Given the description of an element on the screen output the (x, y) to click on. 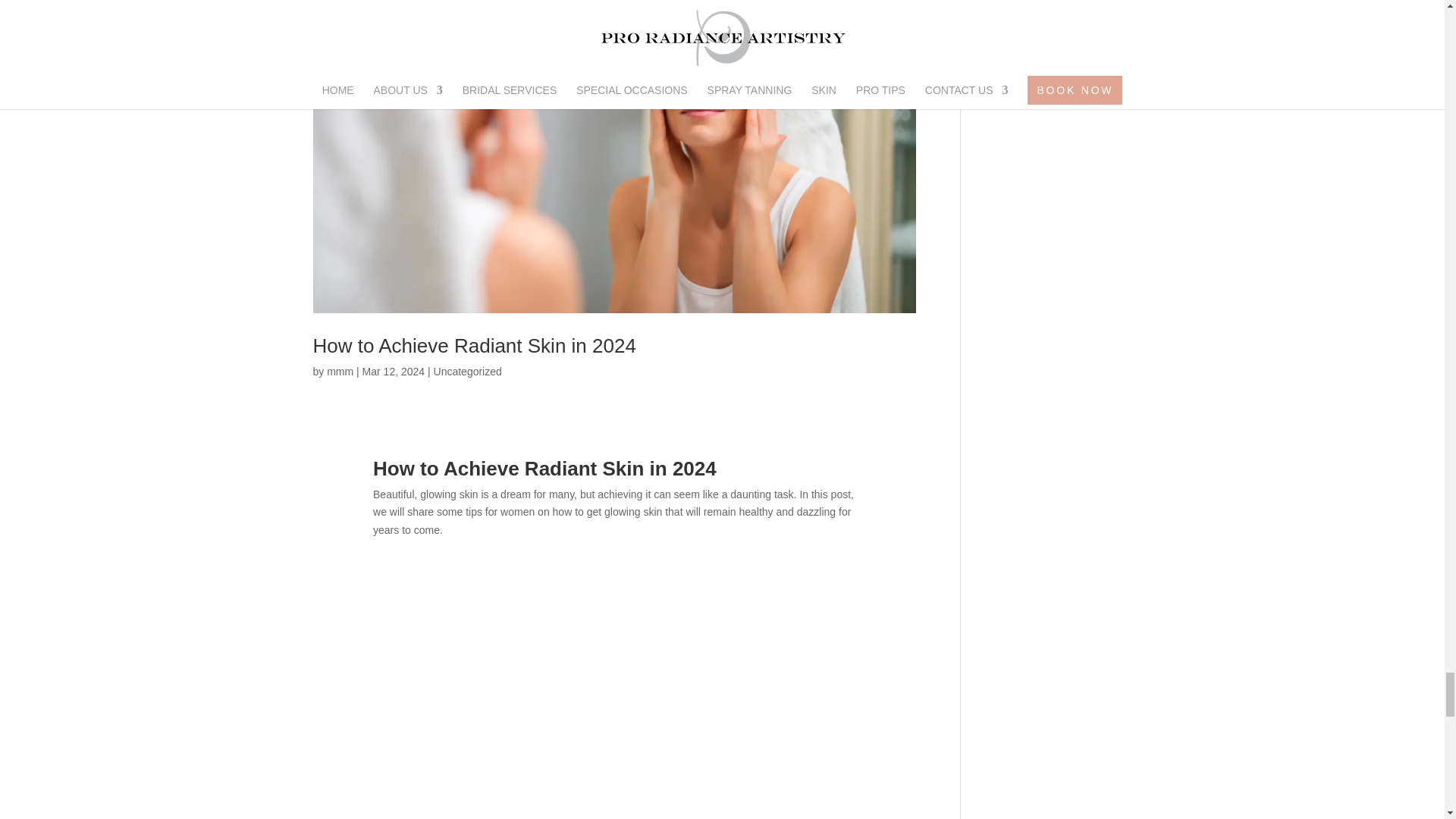
Posts by mmm (339, 371)
